Given the description of an element on the screen output the (x, y) to click on. 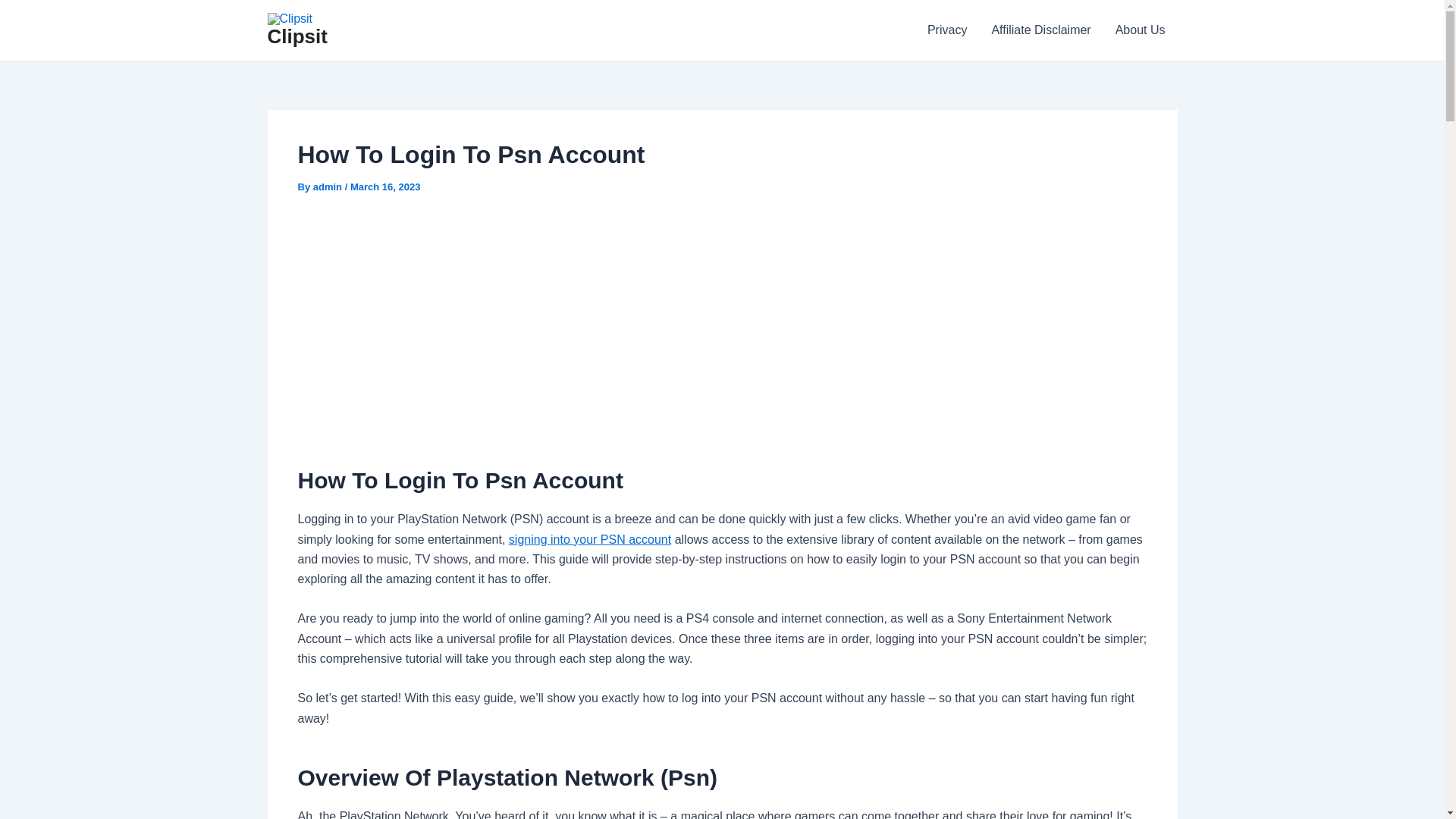
Affiliate Disclaimer (1040, 30)
Clipsit (296, 36)
admin (329, 186)
About Us (1140, 30)
Privacy (946, 30)
View all posts by admin (329, 186)
signing into your PSN account (589, 539)
